Given the description of an element on the screen output the (x, y) to click on. 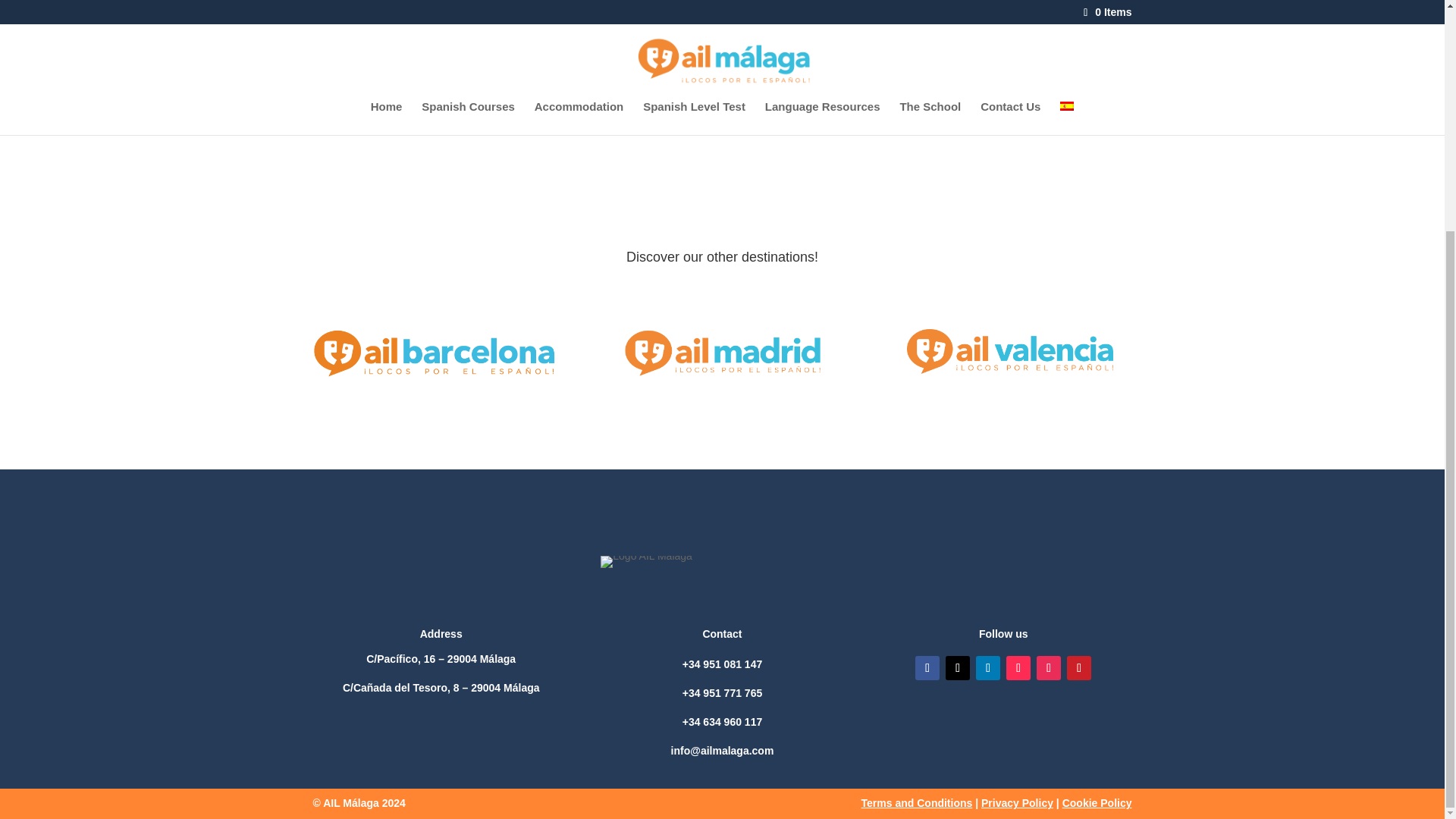
LOGO-AIL-MALAGA-ALARGADO (646, 562)
AIL Madrid (721, 356)
LOGO AIL VALENCIA VERSION 3 - PNG (1010, 351)
Follow on X (956, 668)
Follow on Facebook (927, 668)
